Given the description of an element on the screen output the (x, y) to click on. 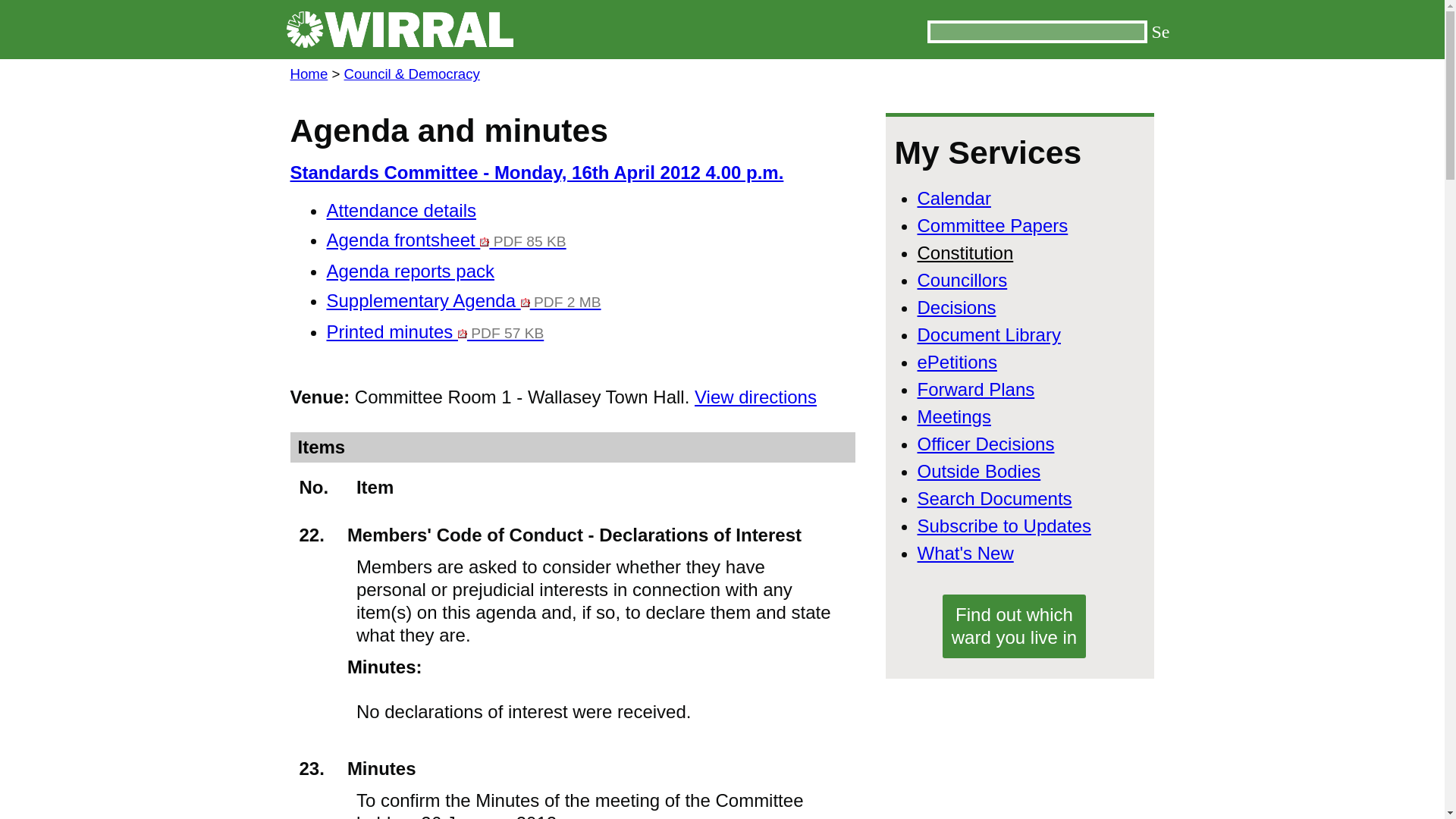
Link to agenda reports document pack (409, 271)
Enter the terms you wish to search for. (1036, 31)
ePetitions (957, 362)
Calendar (954, 198)
Agenda reports pack (409, 271)
Councillors (962, 280)
Decisions (956, 307)
Link to calendar of meetings (954, 198)
View directions (755, 396)
Standards Committee - Monday, 16th April 2012 4.00 p.m. (536, 172)
Agenda frontsheet PDF 85 KB (446, 240)
Search (1158, 31)
Link to Standards Committee (536, 172)
Link to directions to Committee Room 1 - Wallasey Town Hall (755, 396)
